Given the description of an element on the screen output the (x, y) to click on. 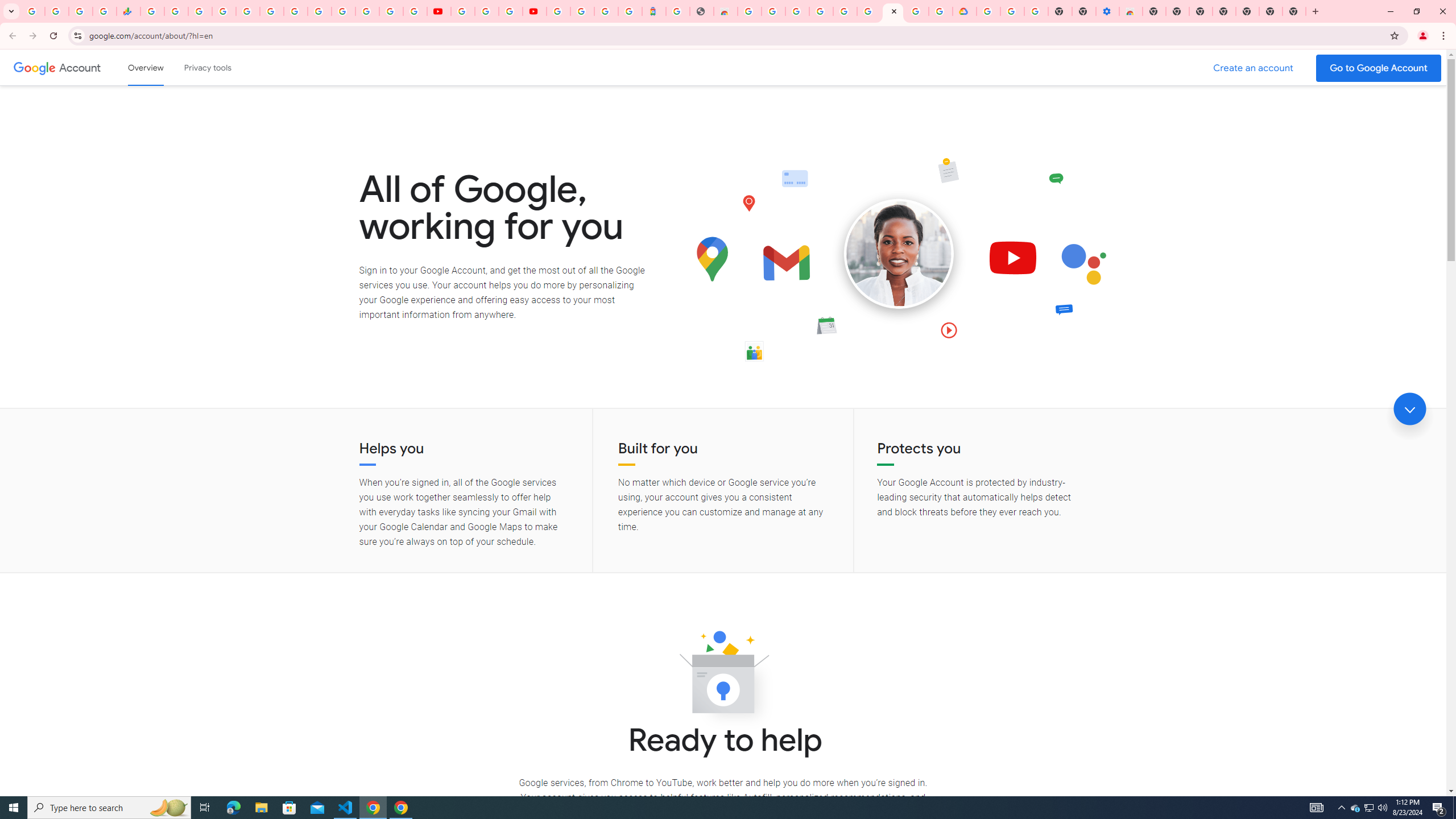
Chrome Web Store - Household (725, 11)
Sign in - Google Accounts (581, 11)
Google Account (80, 67)
Google Account overview (145, 67)
Google Account Help (486, 11)
Settings - Accessibility (1107, 11)
